Given the description of an element on the screen output the (x, y) to click on. 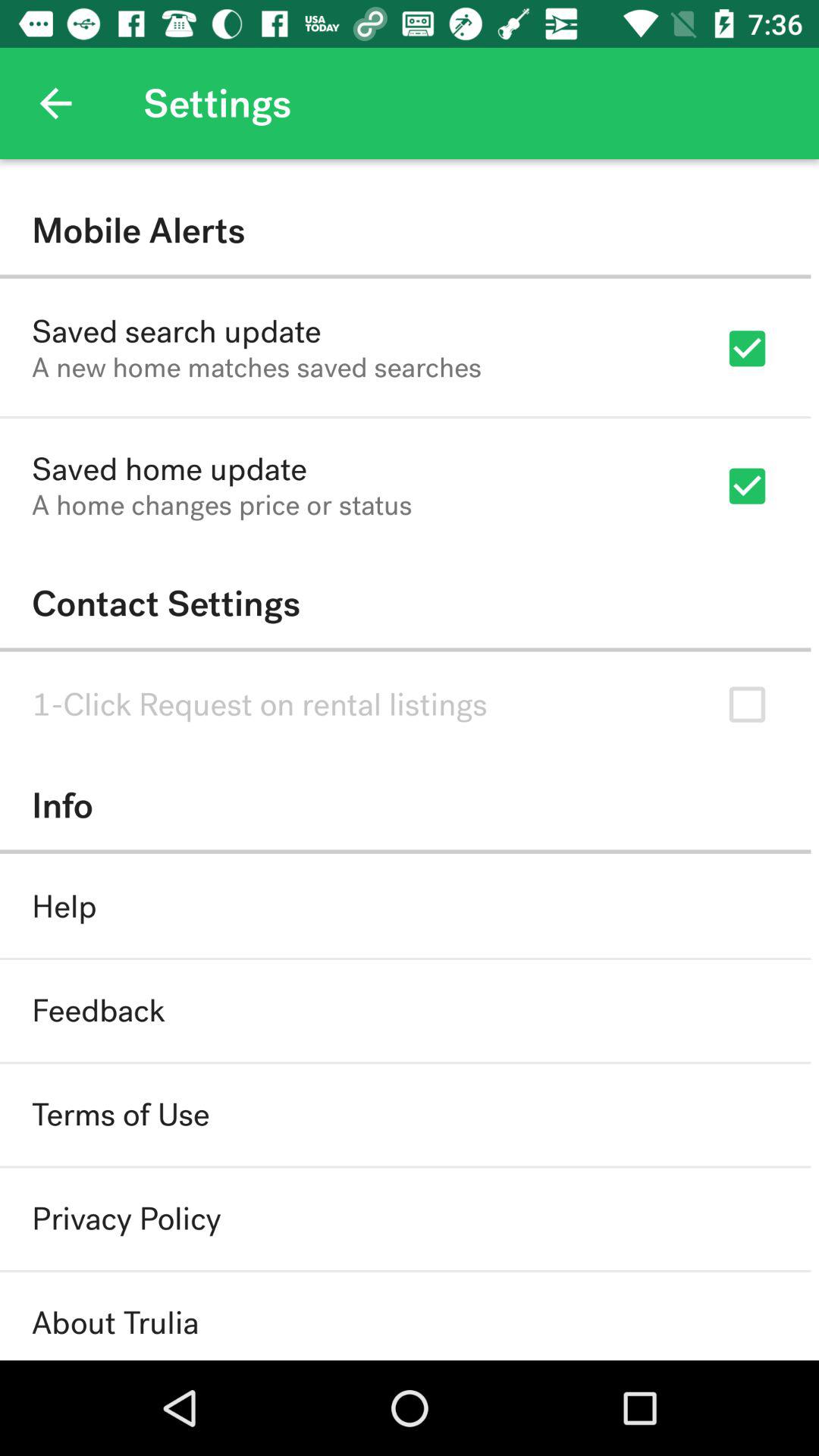
turn on the icon above help (405, 805)
